Given the description of an element on the screen output the (x, y) to click on. 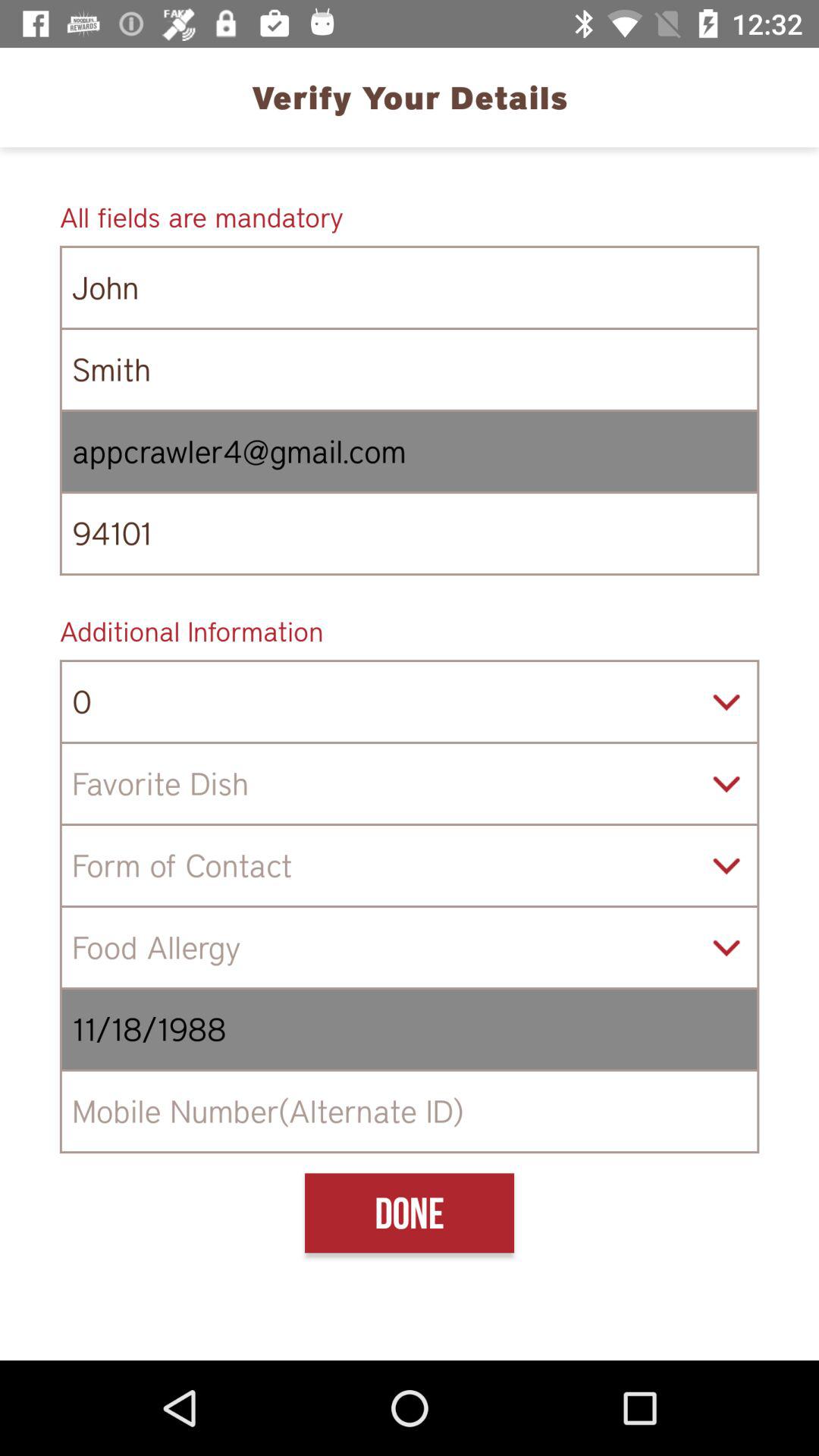
launch icon below 94101 item (409, 631)
